Given the description of an element on the screen output the (x, y) to click on. 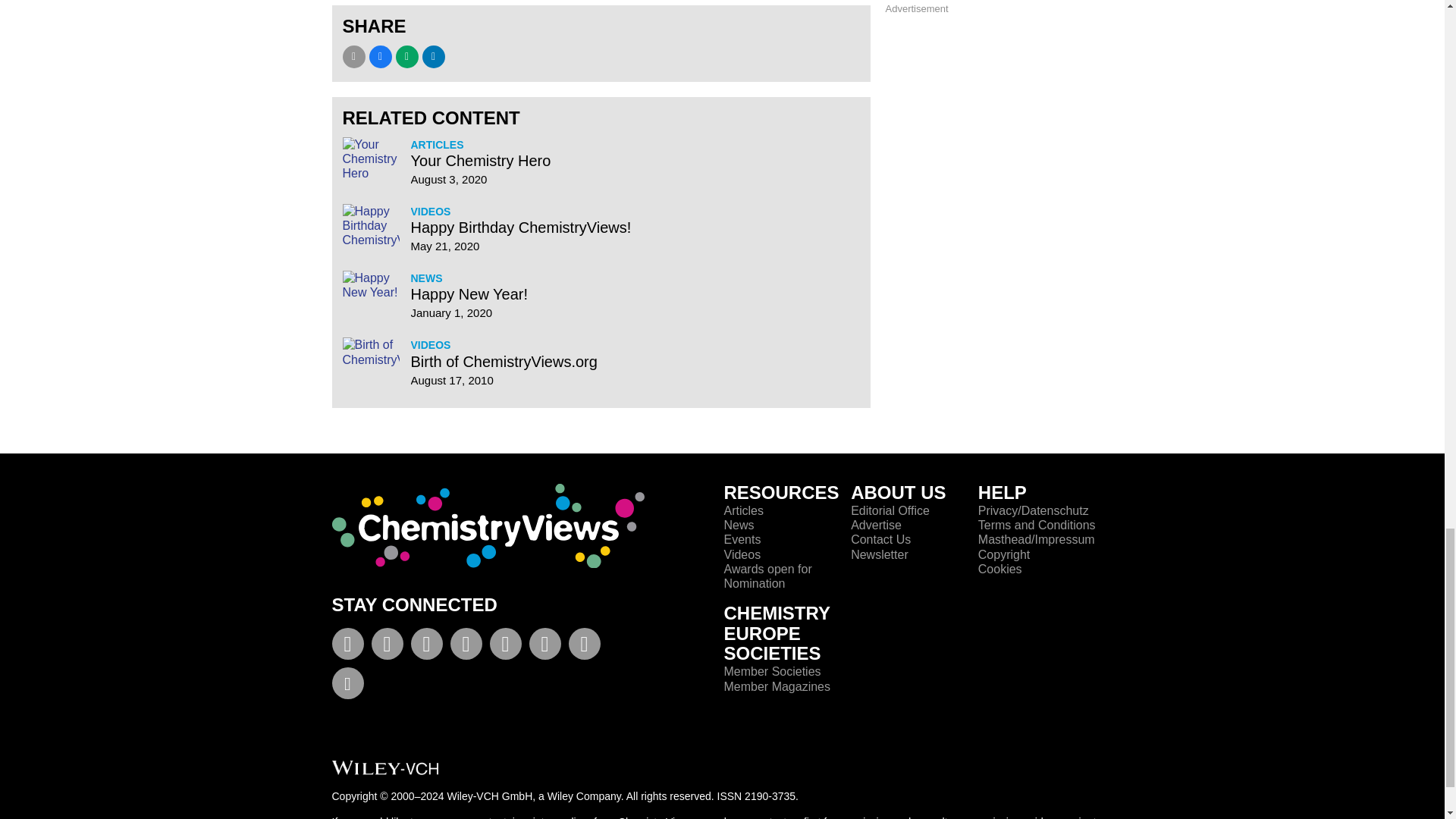
Facebook (347, 645)
LinkedIn (465, 645)
Share on LinkedIn (433, 56)
Share on Facebook (379, 56)
Instagram (505, 645)
Share on Twitter (407, 56)
Bluesky (347, 685)
YouTube (426, 645)
RSS (544, 645)
Twitter (387, 645)
Mastodon (584, 645)
Share on Email (353, 56)
